Given the description of an element on the screen output the (x, y) to click on. 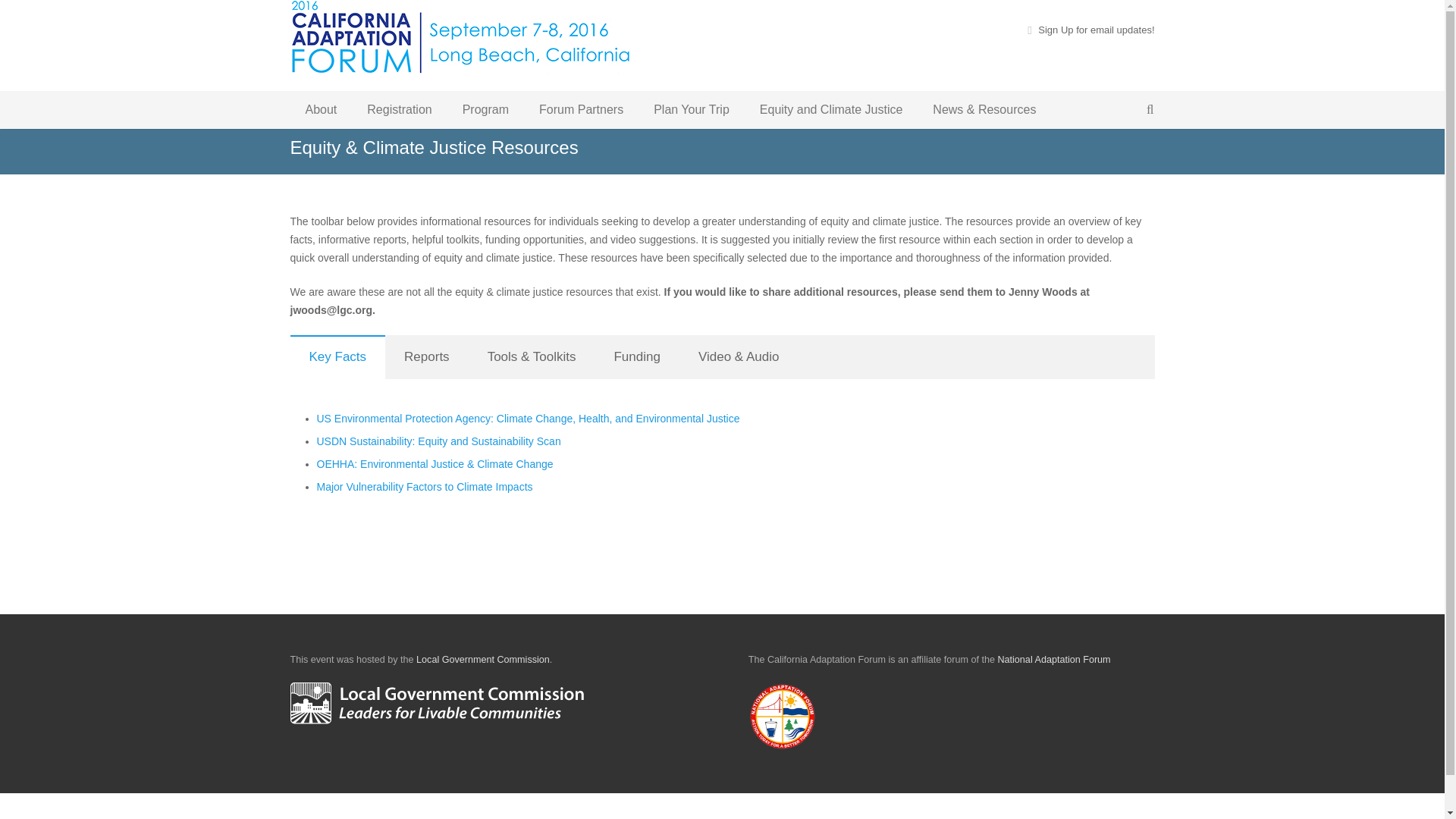
Forum Partners (581, 109)
About (320, 109)
Plan Your Trip (691, 109)
Equity and Climate Justice (831, 109)
Registration (399, 109)
Program (485, 109)
Sign Up for email updates! (1096, 30)
